Given the description of an element on the screen output the (x, y) to click on. 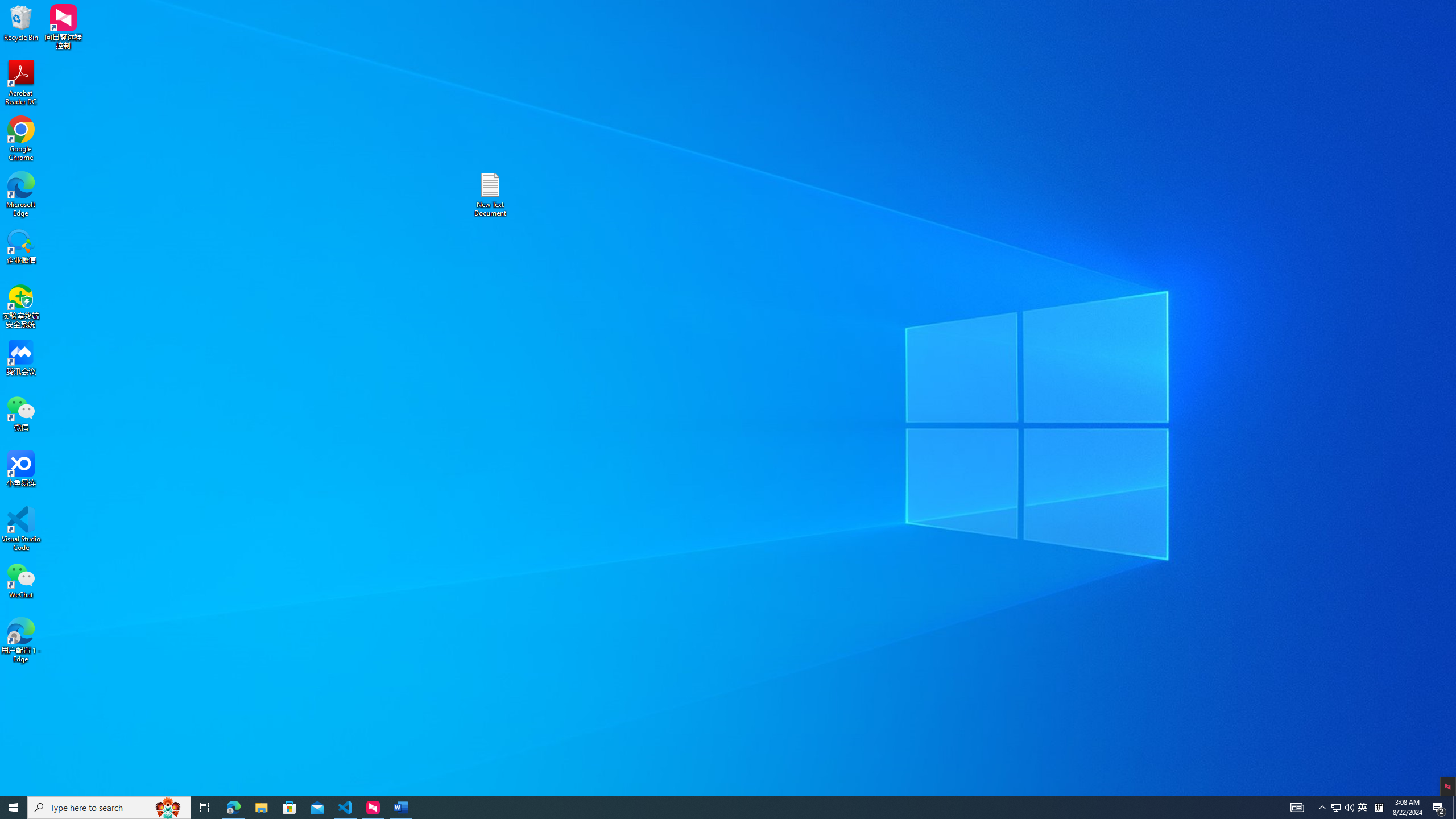
Strong (849, 56)
Microsoft Edge - 1 running window (233, 807)
Replace... (1156, 56)
